Given the description of an element on the screen output the (x, y) to click on. 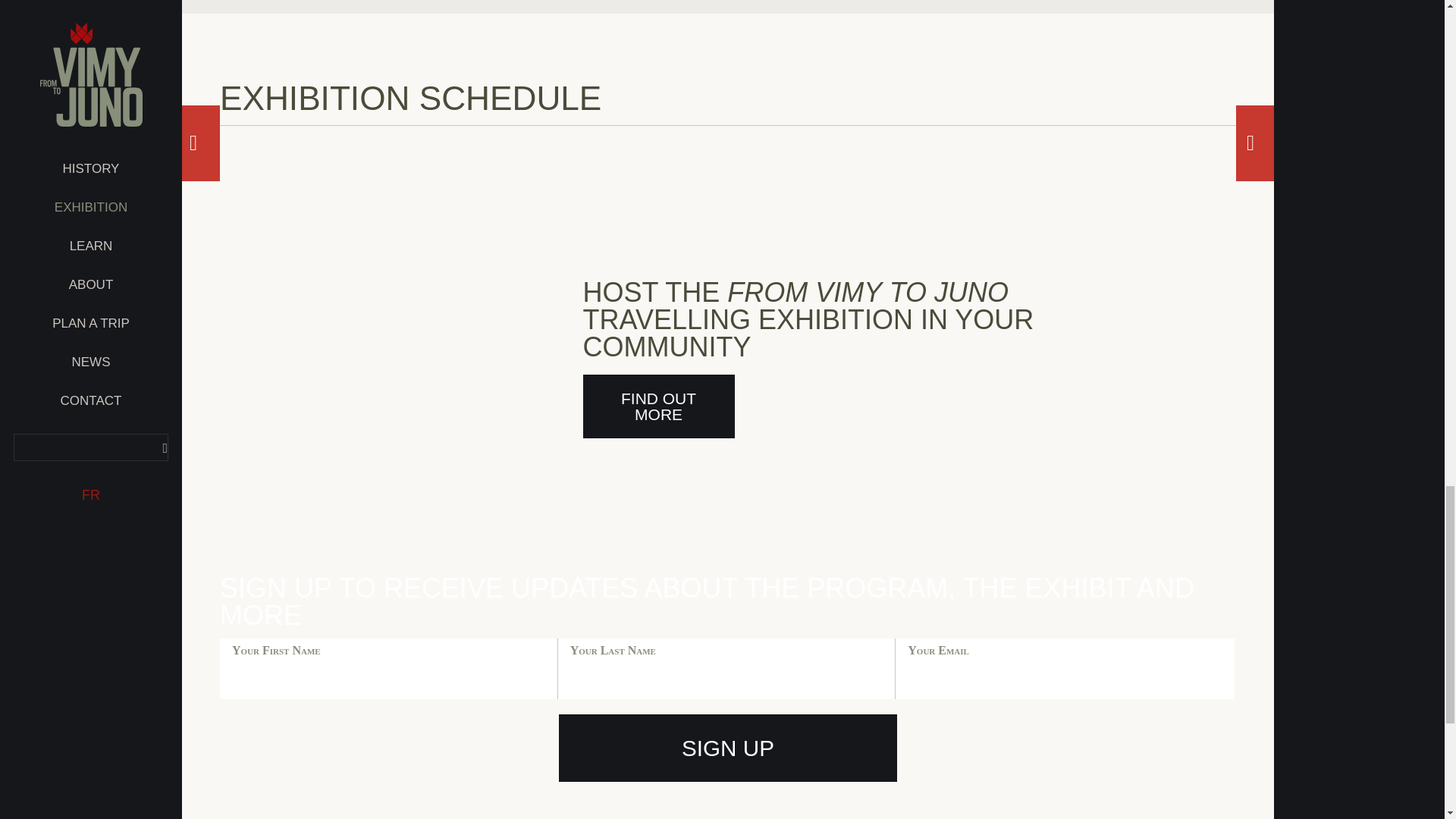
Sign Up (727, 748)
